Given the description of an element on the screen output the (x, y) to click on. 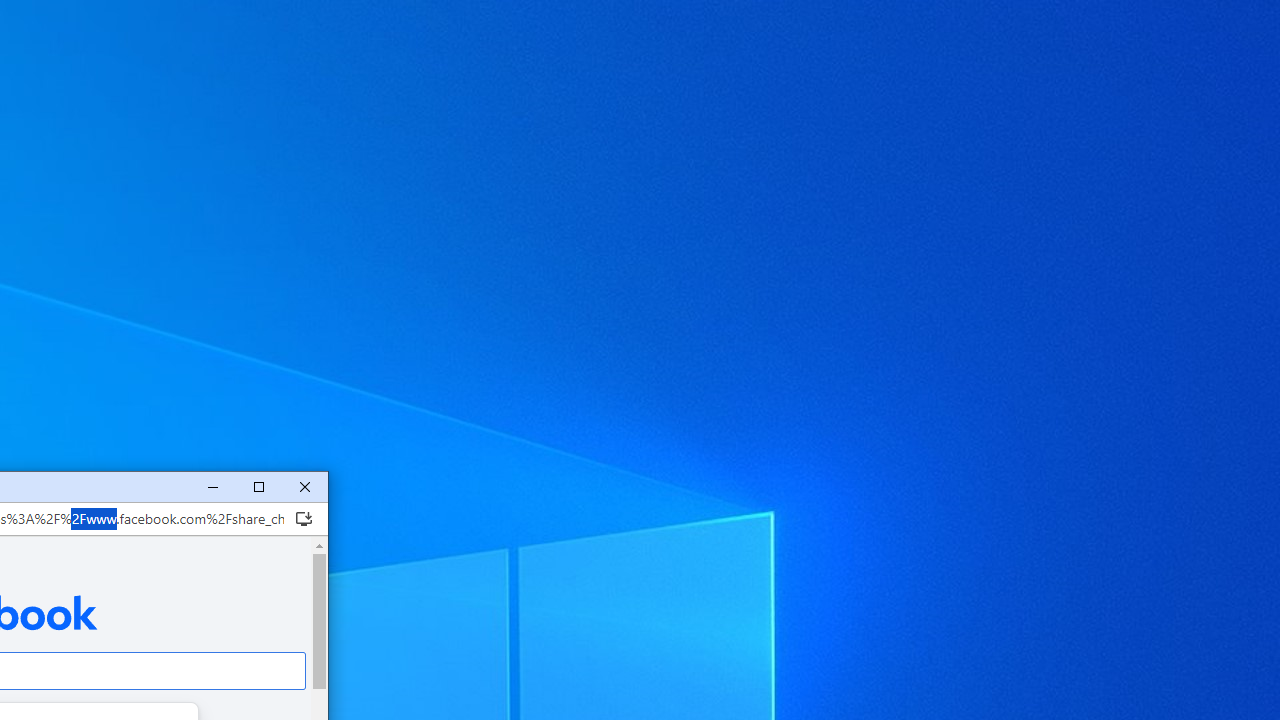
Maximize (258, 487)
Install Facebook (303, 518)
